Given the description of an element on the screen output the (x, y) to click on. 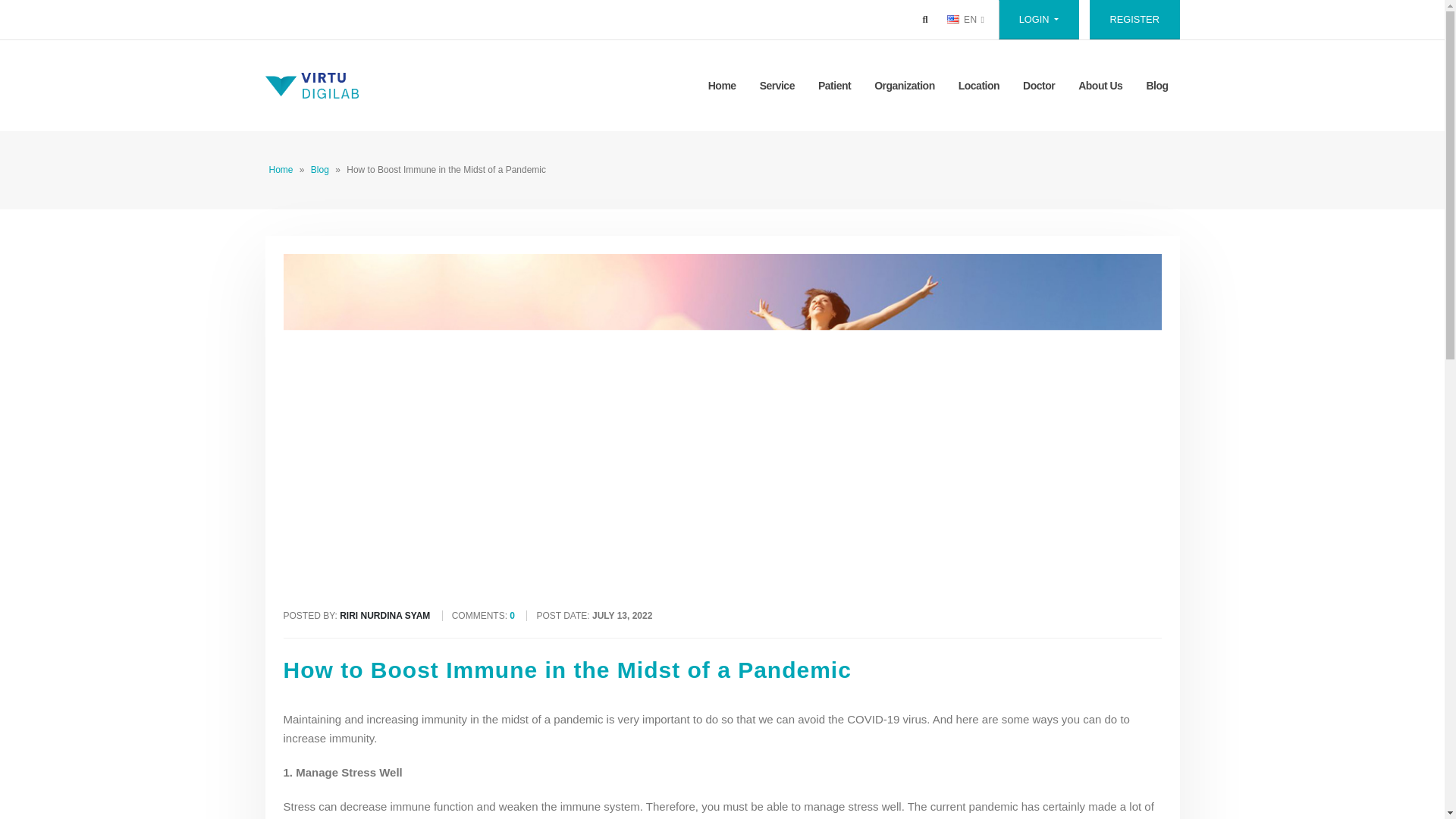
Location (978, 85)
EN (965, 19)
About Us (1100, 85)
Patient (833, 85)
REGISTER (1134, 19)
Organization (904, 85)
Doctor (1038, 85)
Service (777, 85)
Virtu DigiLab -  (311, 85)
LOGIN (1038, 19)
